Given the description of an element on the screen output the (x, y) to click on. 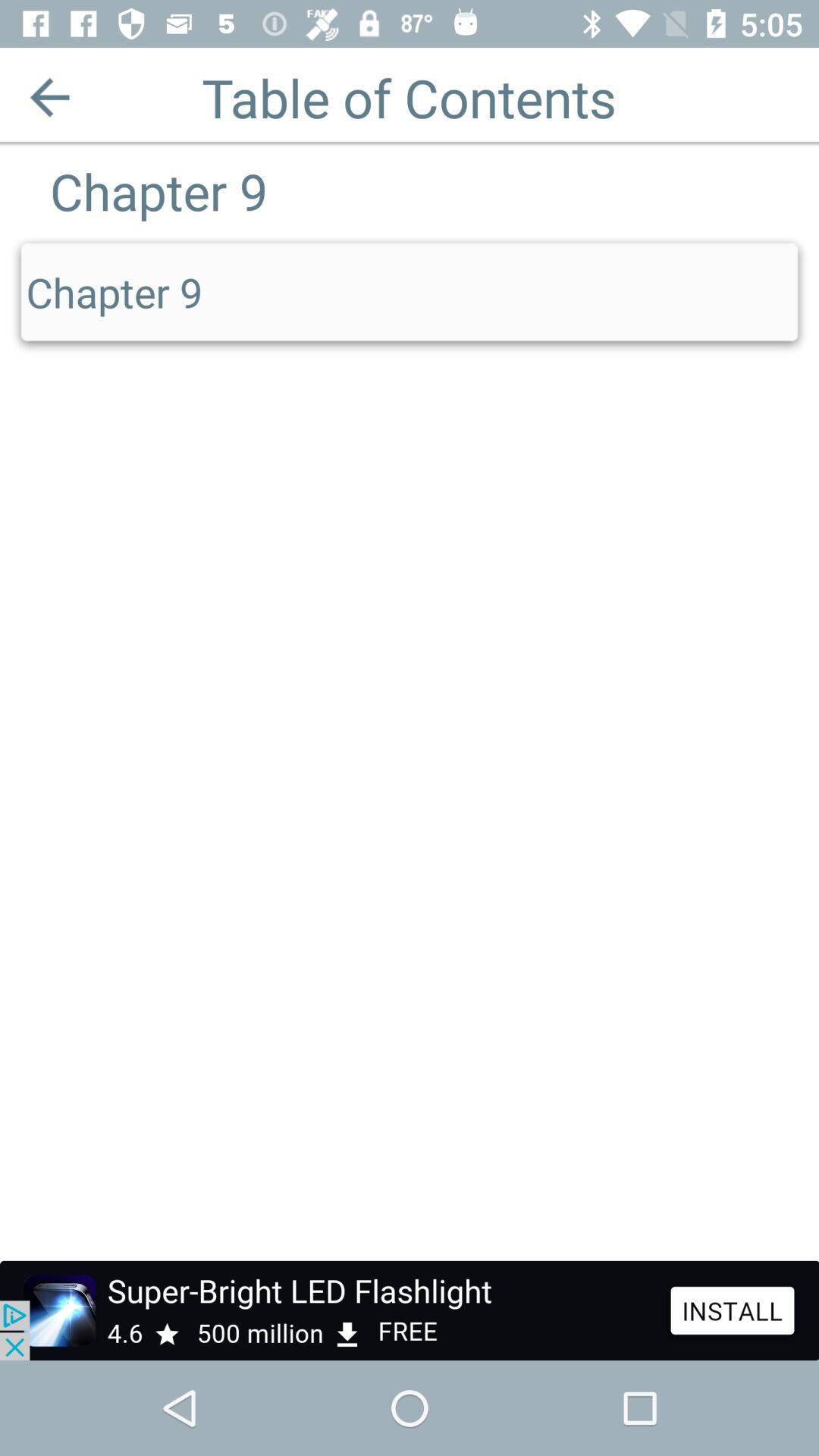
previews button (49, 97)
